Given the description of an element on the screen output the (x, y) to click on. 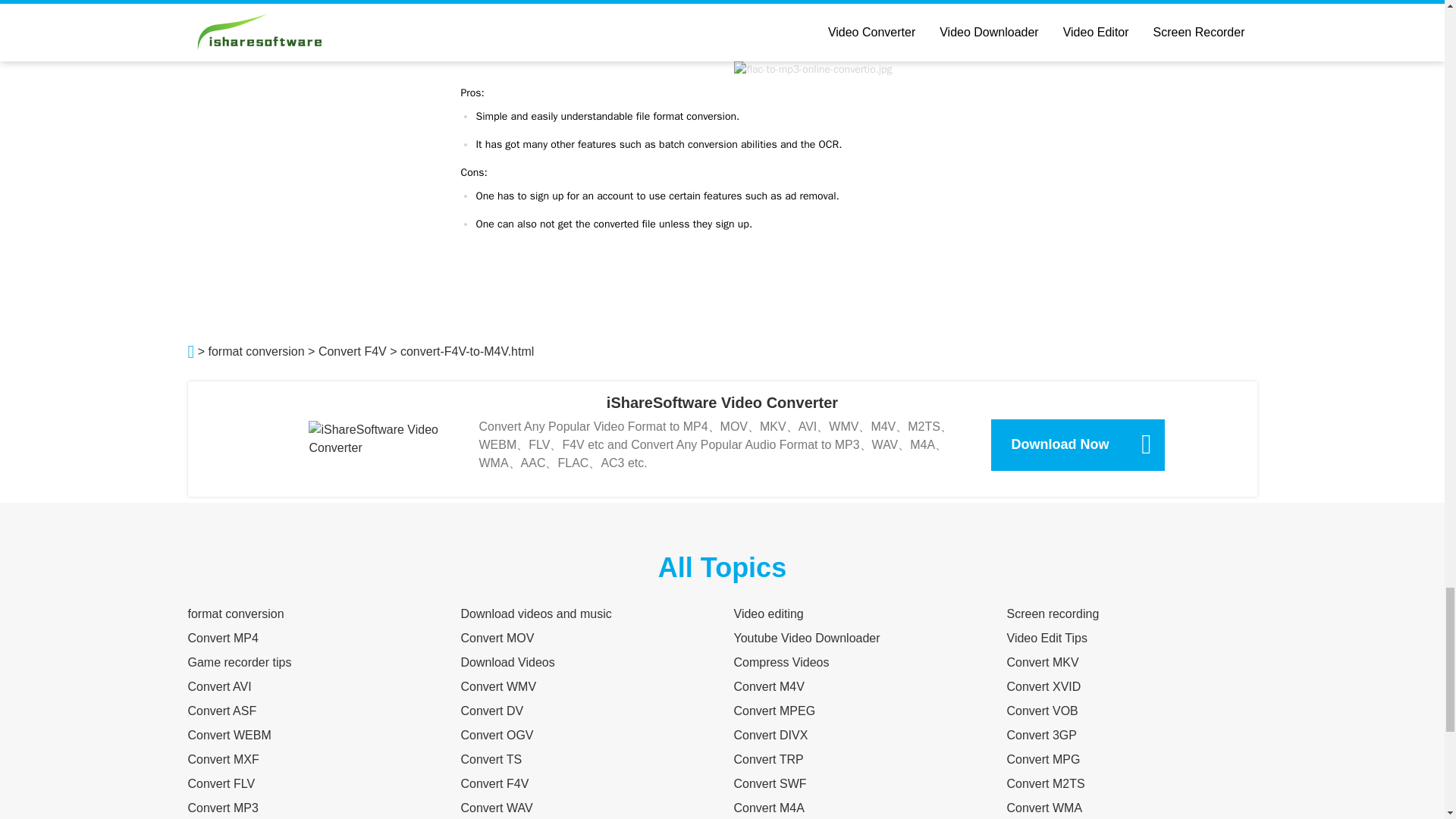
1612756254250847.jpg (812, 68)
format conversion (256, 350)
Convert F4V (352, 350)
Download Now (1077, 444)
iShareSoftware Video Converter (722, 402)
format conversion (235, 613)
